Given the description of an element on the screen output the (x, y) to click on. 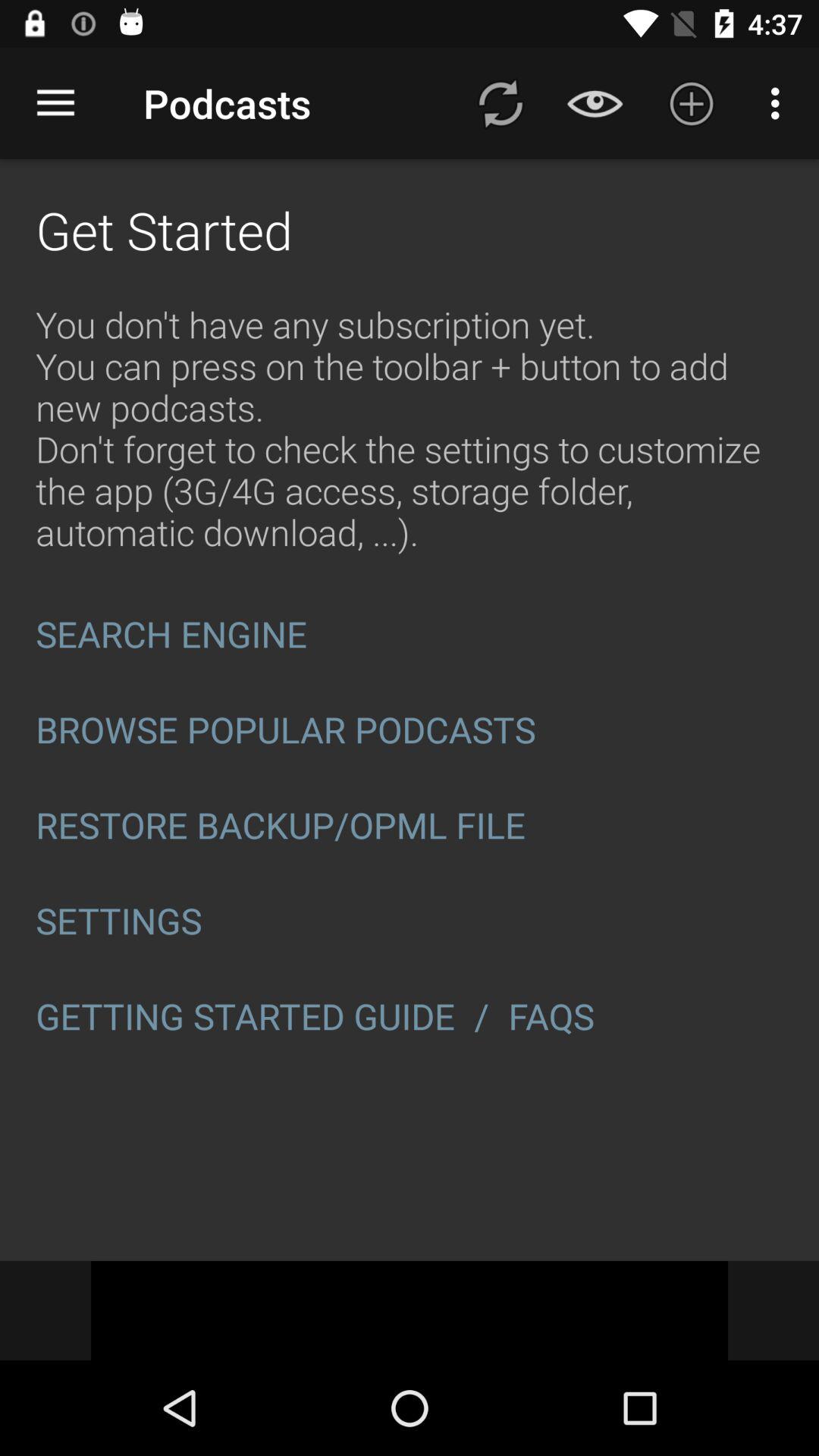
turn off icon at the bottom left corner (245, 1016)
